Given the description of an element on the screen output the (x, y) to click on. 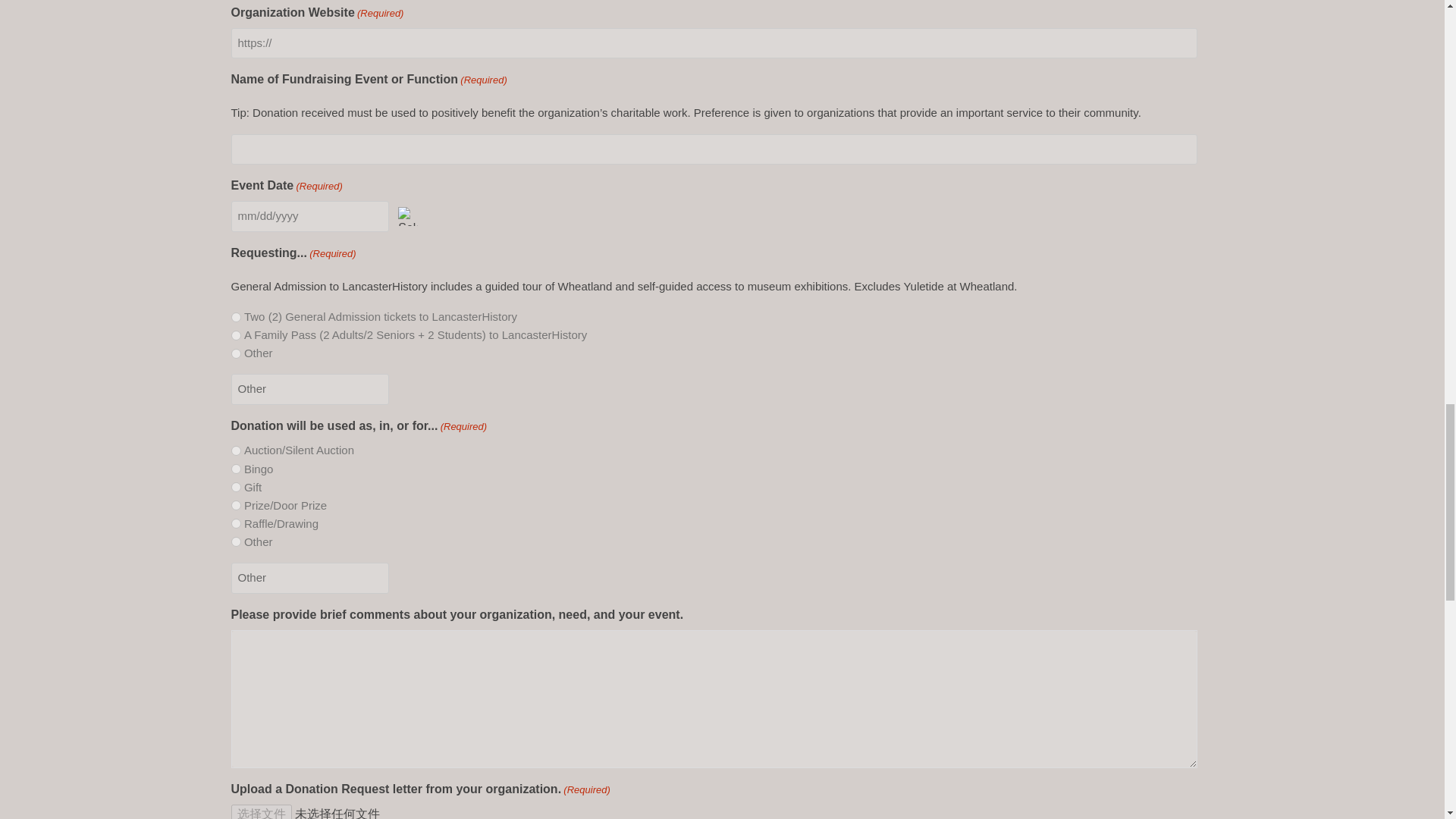
Gift (235, 487)
Other (309, 388)
Select date (407, 216)
Bingo (235, 469)
